Given the description of an element on the screen output the (x, y) to click on. 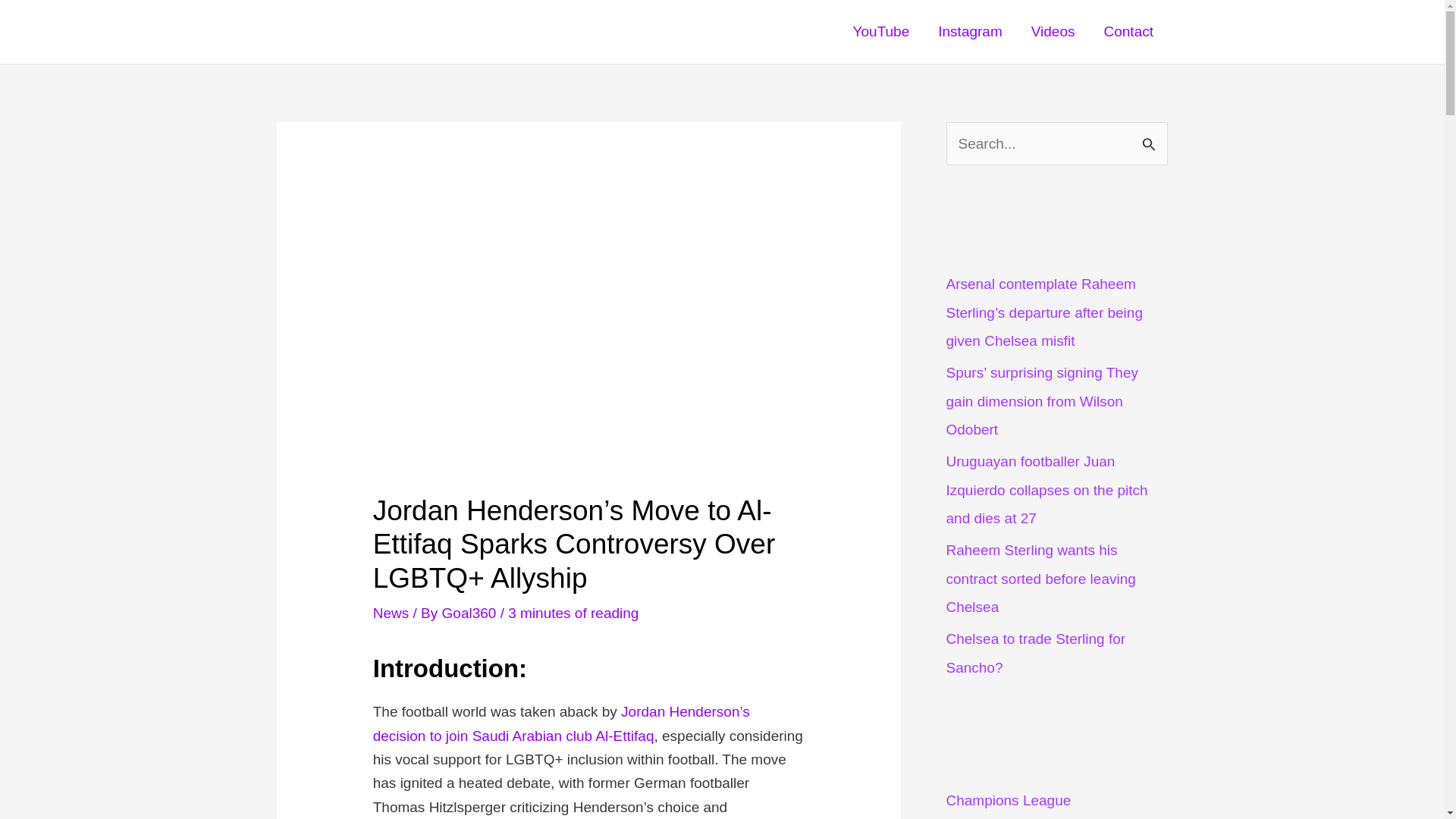
Videos (1052, 31)
YouTube (881, 31)
View all posts by Goal360 (471, 612)
Goal360 (471, 612)
Chelsea to trade Sterling for Sancho? (1035, 652)
Search (1150, 139)
Instagram (969, 31)
Search (1150, 139)
